Given the description of an element on the screen output the (x, y) to click on. 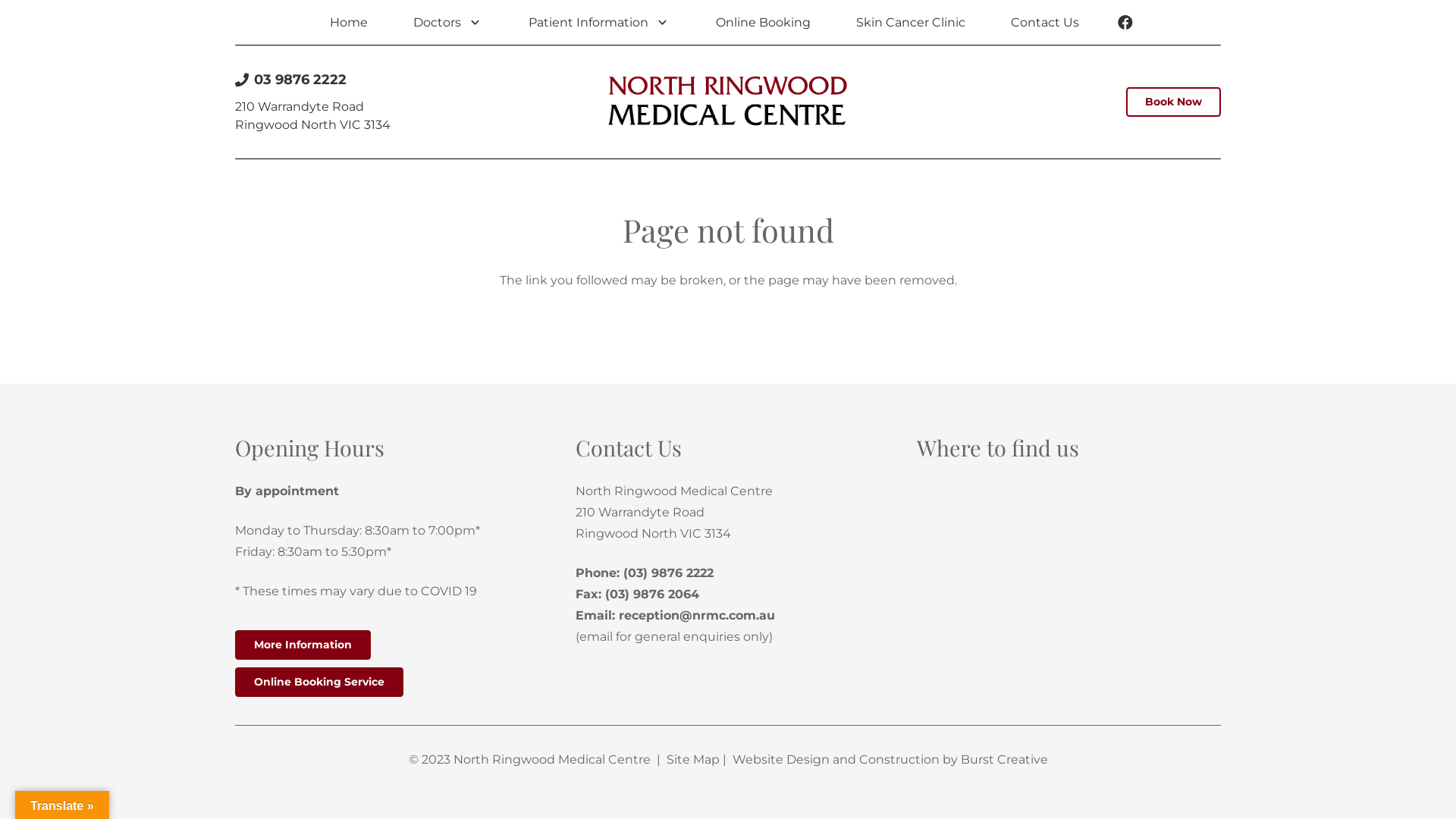
Facebook Element type: hover (1125, 22)
Site Map Element type: text (691, 759)
reception@nrmc.com.au Element type: text (696, 615)
Contact Us Element type: text (1044, 21)
Patient Information Element type: text (599, 21)
Website Design and Construction by Burst Creative Element type: text (890, 759)
Home Element type: text (347, 21)
Skin Cancer Clinic Element type: text (910, 21)
Online Booking Element type: text (763, 21)
Book Now Element type: text (1173, 101)
Doctors Element type: text (447, 21)
More Information Element type: text (302, 644)
Online Booking Service Element type: text (319, 681)
03 9876 2222 Element type: text (290, 79)
(03) 9876 2222 Element type: text (668, 572)
